Given the description of an element on the screen output the (x, y) to click on. 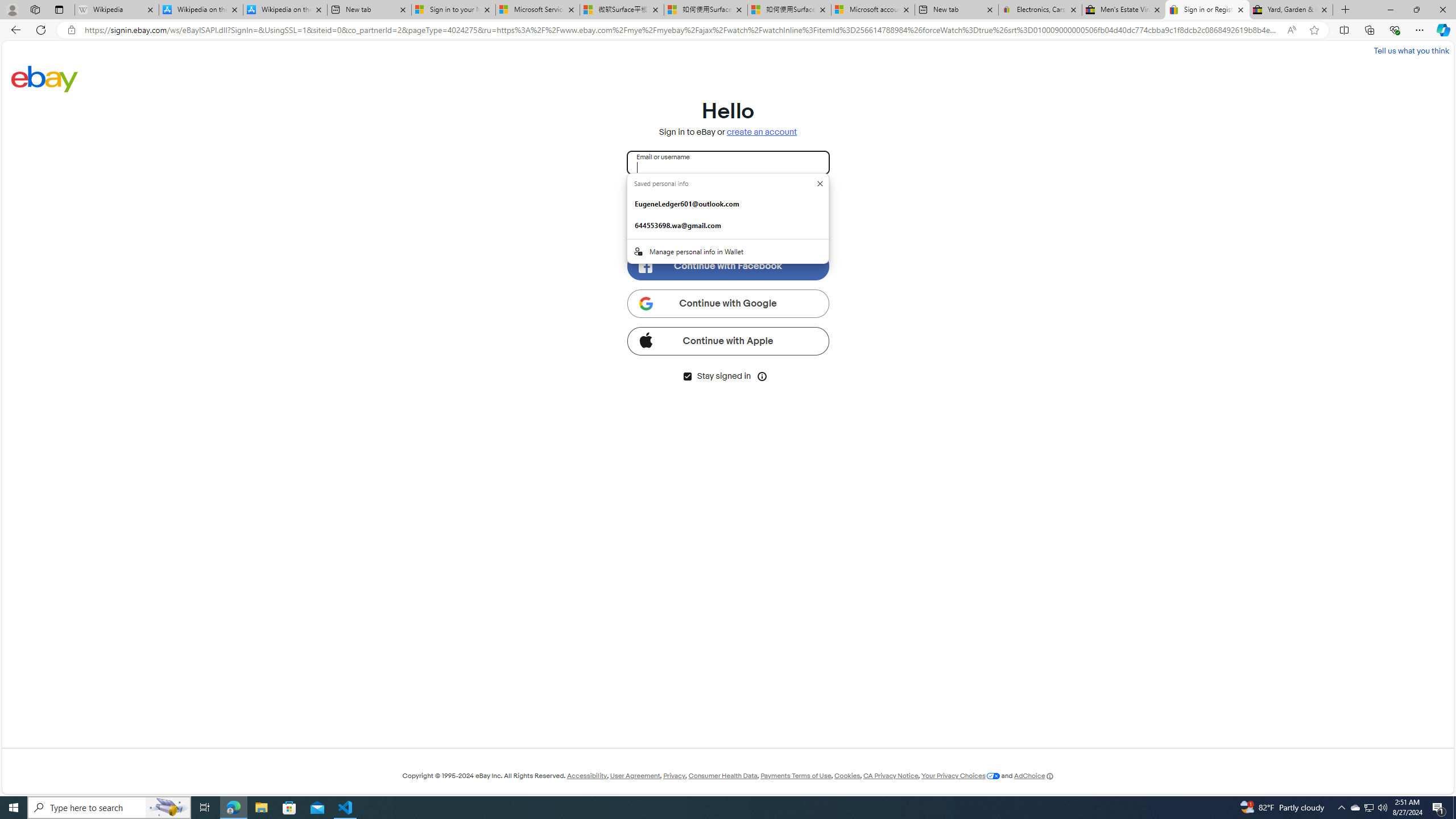
EugeneLedger601@outlook.com. :Basic info suggestion. (727, 203)
Your Privacy Choices (960, 775)
Sign in or Register | eBay (1206, 9)
Class: icon-btn tooltip__host icon-btn--transparent (762, 375)
